Given the description of an element on the screen output the (x, y) to click on. 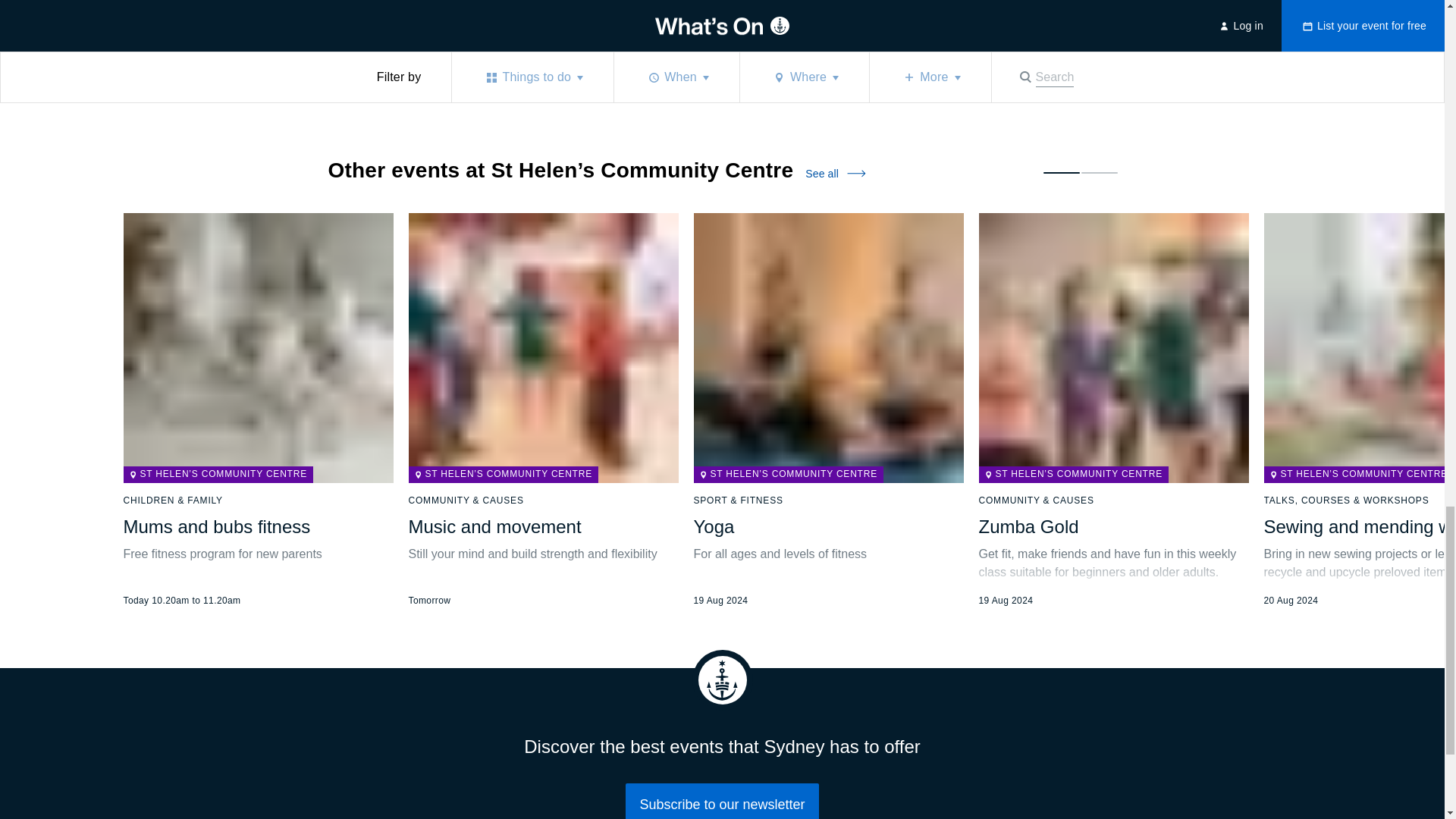
NEW IDEA (423, 28)
See all (834, 172)
Music and movement (493, 526)
Mums and bubs fitness (216, 526)
CULTURE (356, 28)
MULTICULTURAL (587, 28)
COMMUNITY (497, 28)
